Given the description of an element on the screen output the (x, y) to click on. 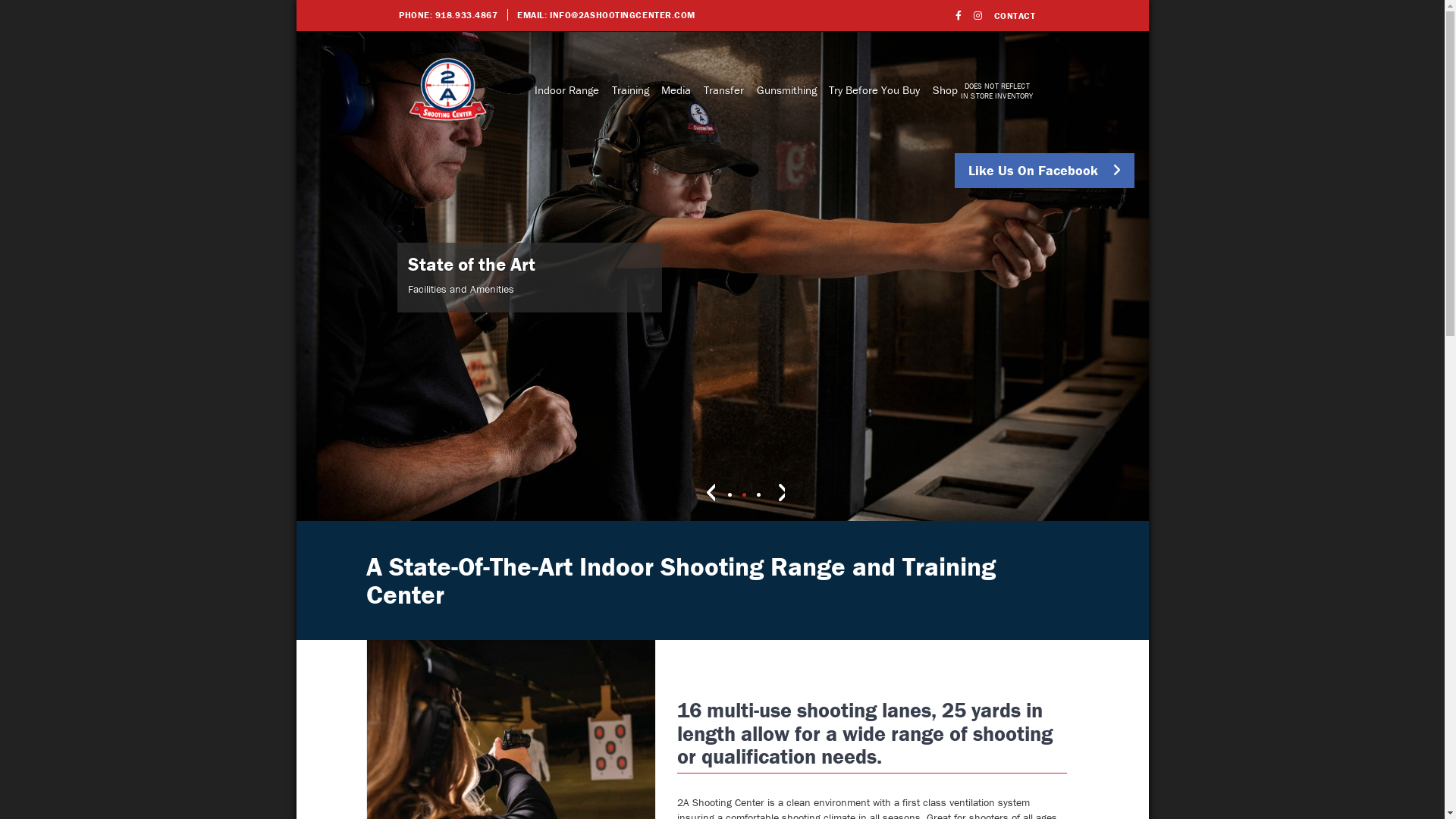
INFO@2ASHOOTINGCENTER.COM Element type: text (622, 14)
Try Before You Buy Element type: text (1248, 129)
Like Us On Facebook Element type: text (1044, 170)
Indoor Range Element type: text (809, 129)
Transfer Element type: text (1033, 129)
CONTACT Element type: text (1014, 15)
Gunsmithing Element type: text (1123, 129)
Training Element type: text (900, 129)
Media Element type: text (966, 129)
